Given the description of an element on the screen output the (x, y) to click on. 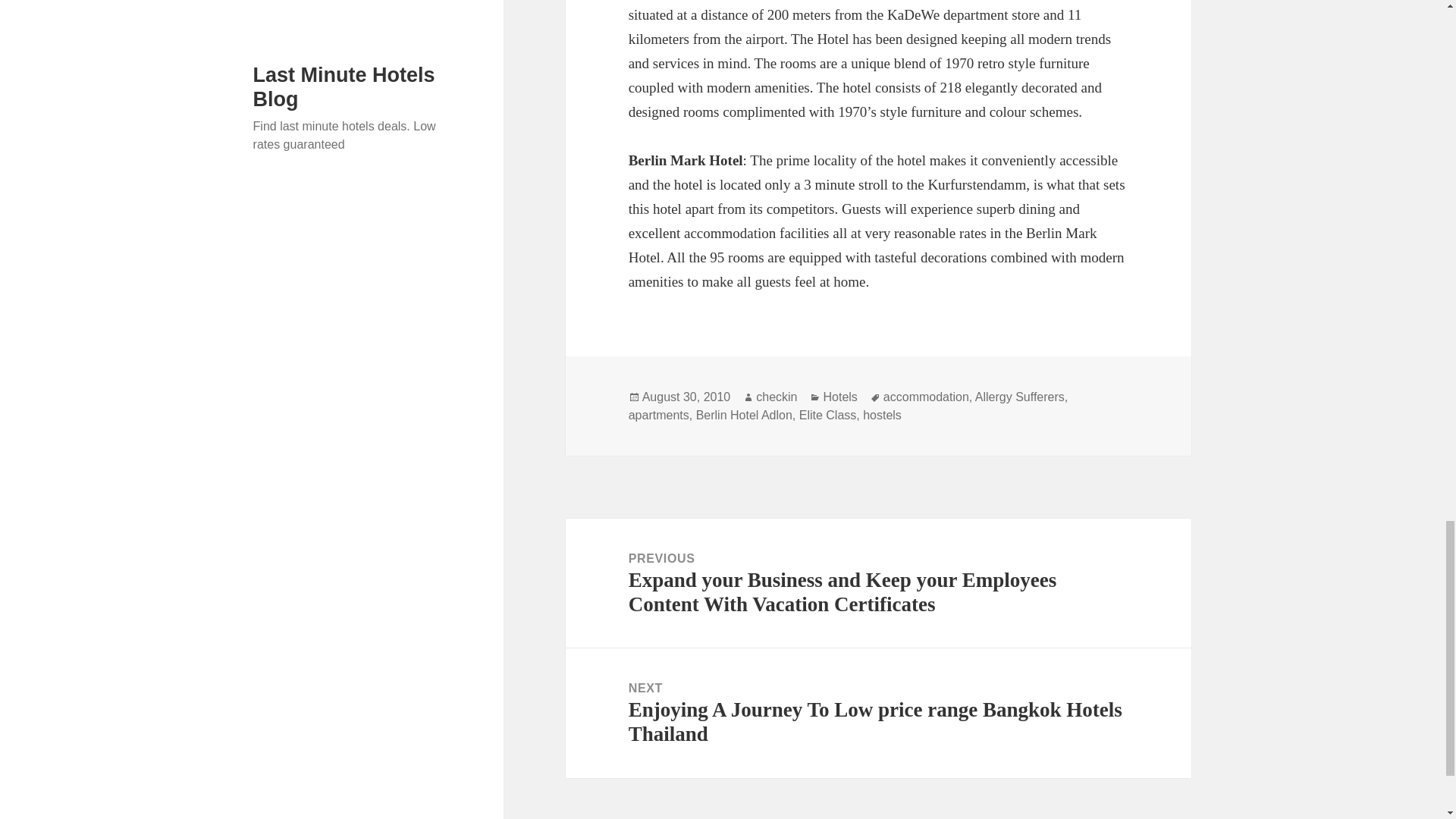
Berlin Hotel Adlon (743, 415)
accommodation (926, 397)
hostels (882, 415)
checkin (775, 397)
Elite Class (828, 415)
Hotels (839, 397)
Allergy Sufferers (1019, 397)
apartments (658, 415)
August 30, 2010 (686, 397)
